Given the description of an element on the screen output the (x, y) to click on. 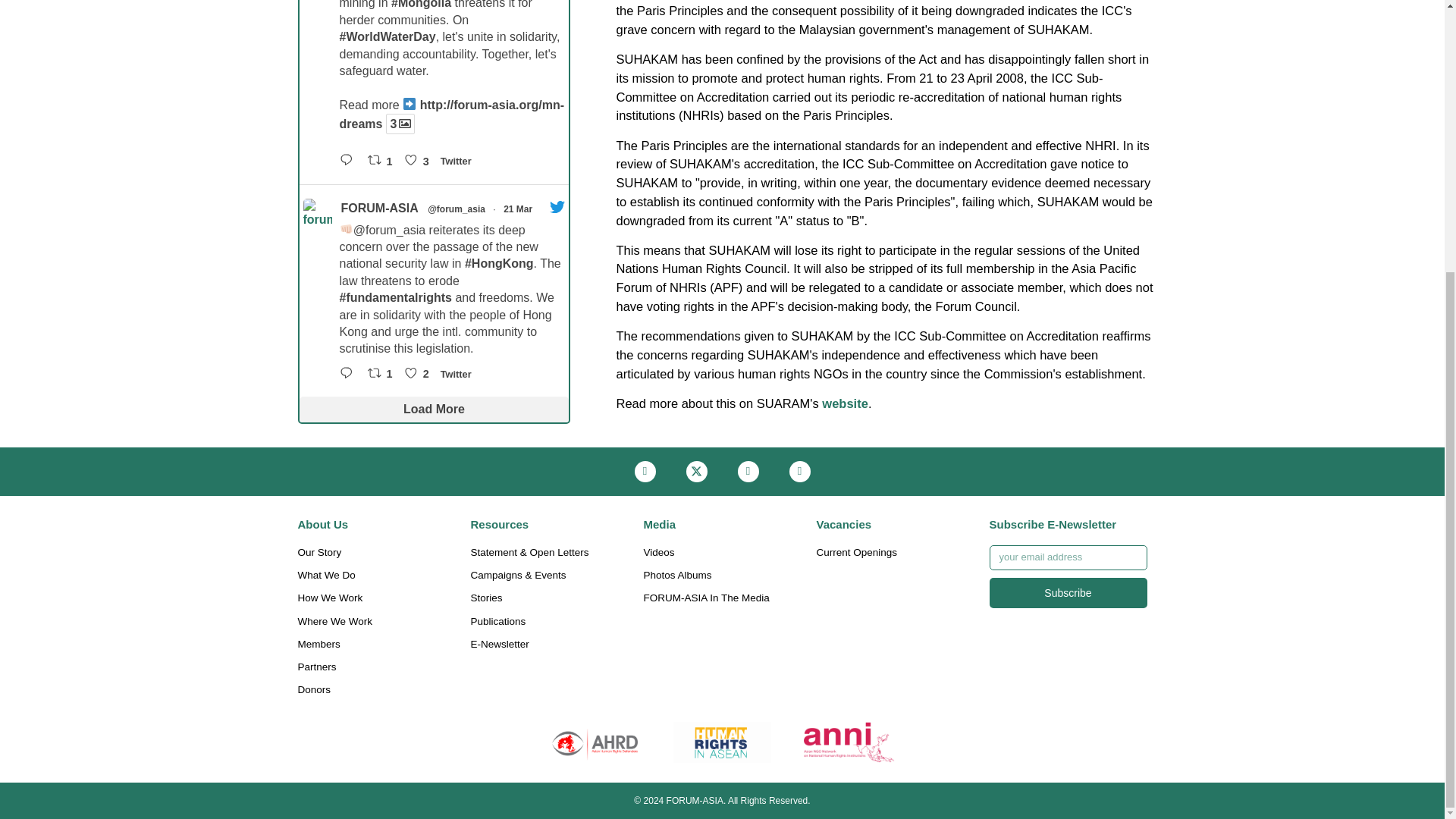
Default Title (848, 741)
Default Title (722, 741)
Default Title (595, 741)
